Given the description of an element on the screen output the (x, y) to click on. 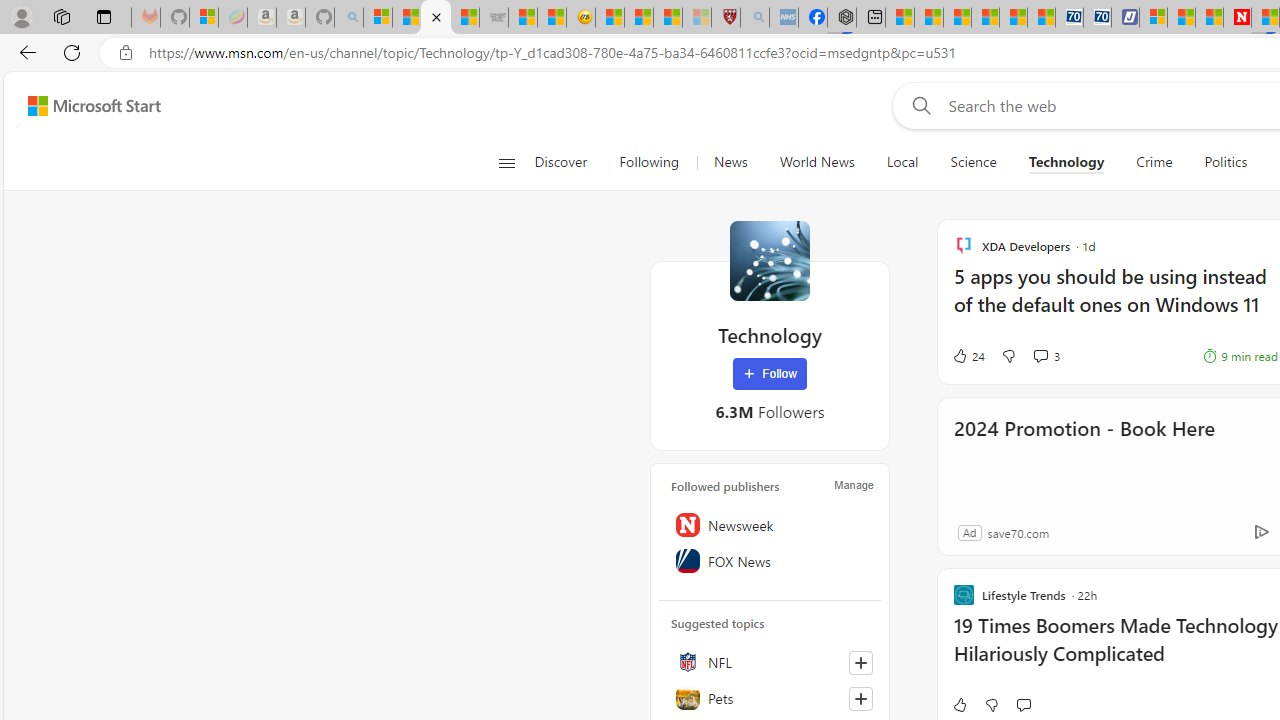
Cheap Hotels - Save70.com (1097, 17)
Technology - MSN (436, 17)
View comments 3 Comment (1045, 355)
19 Times Boomers Made Technology Hilariously Complicated (1115, 650)
Pets (770, 697)
